Given the description of an element on the screen output the (x, y) to click on. 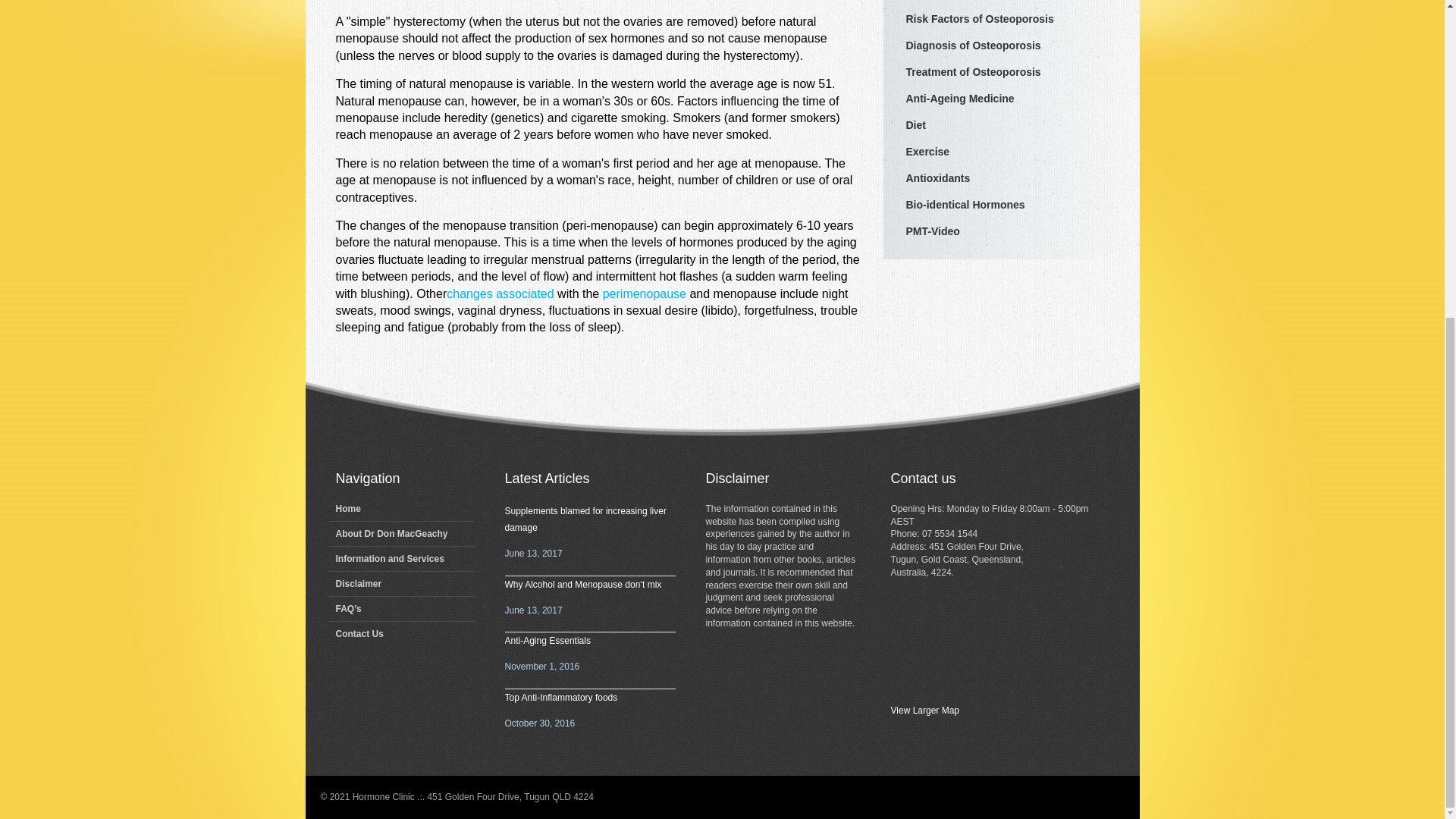
Supplements blamed for increasing liver damage (585, 519)
changes associated (499, 292)
perimenopause (643, 292)
footer-top (721, 408)
Anti-Aging Essentials (548, 640)
Top Anti-Inflammatory foods (561, 697)
